Given the description of an element on the screen output the (x, y) to click on. 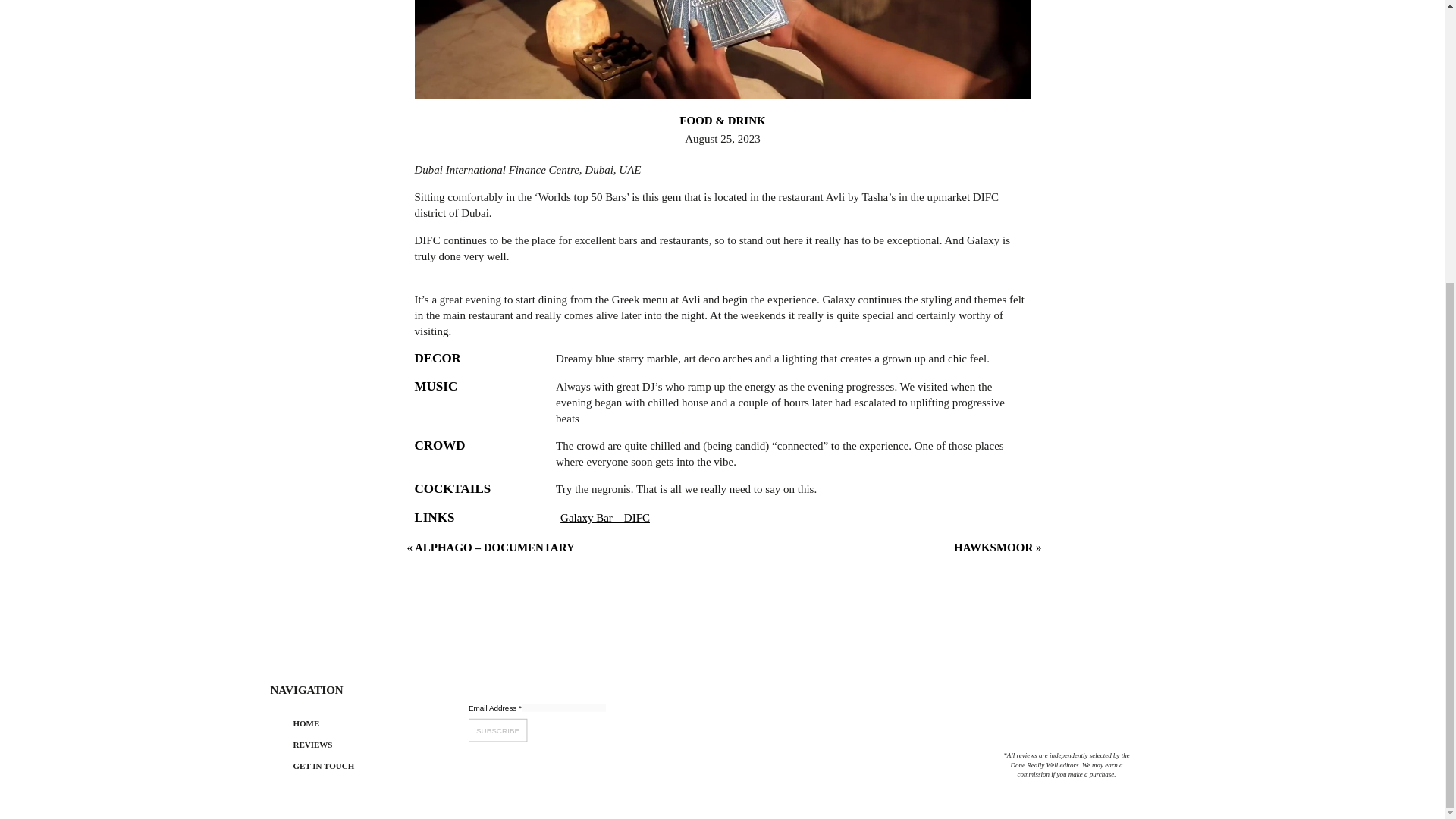
SUBSCRIBE (501, 731)
GET IN TOUCH (341, 767)
HAWKSMOOR (992, 547)
HOME (341, 725)
SUBSCRIBE (501, 731)
REVIEWS (341, 746)
